Given the description of an element on the screen output the (x, y) to click on. 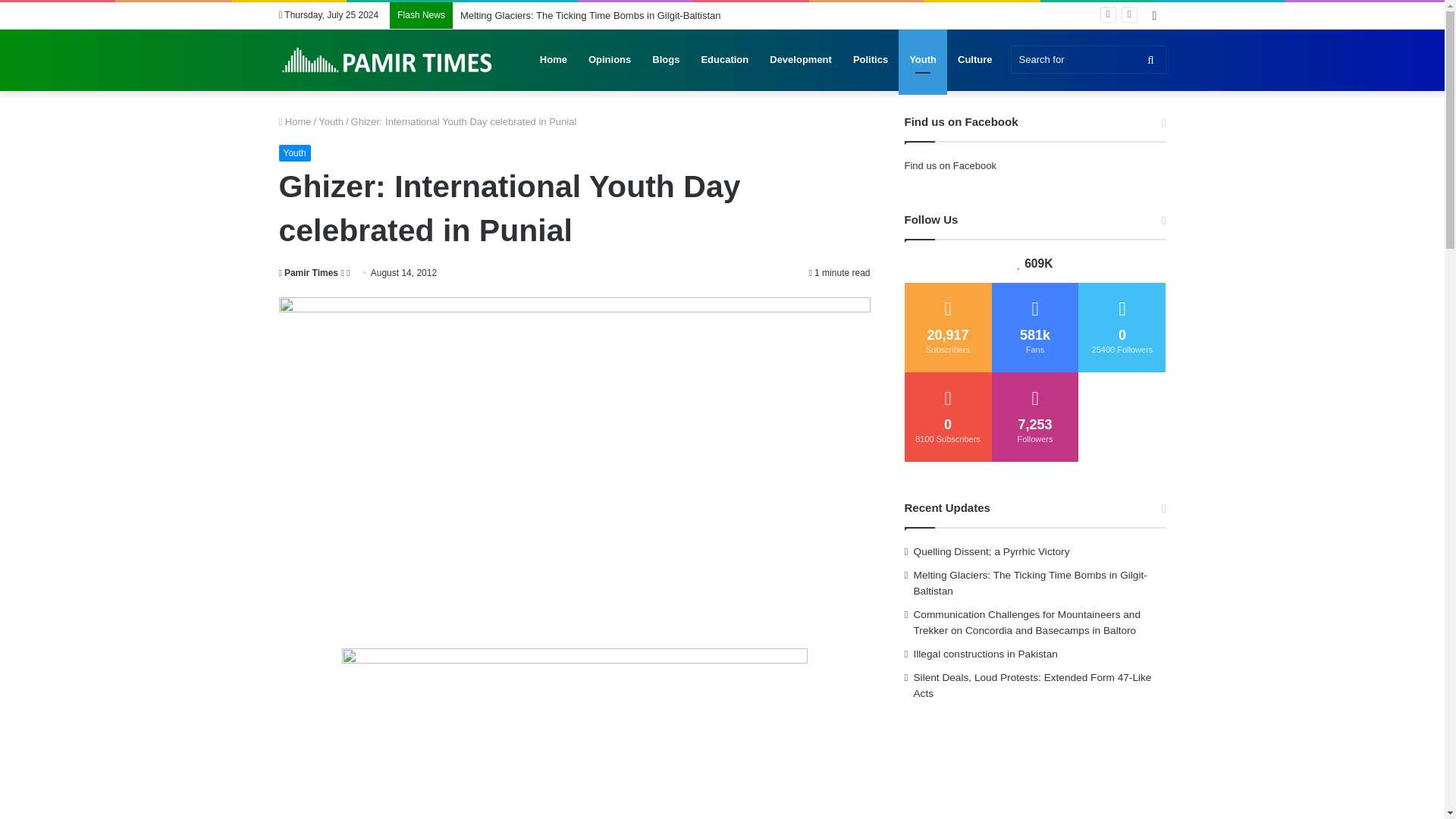
Pamir Times (309, 272)
Search for (1088, 59)
PAMIR TIMES (387, 60)
Development (800, 59)
Melting Glaciers: The Ticking Time Bombs in Gilgit-Baltistan (590, 15)
Youth (295, 152)
Opinions (610, 59)
Home (295, 121)
Education (724, 59)
Culture (975, 59)
Pamir Times (309, 272)
MPYA (573, 733)
Politics (870, 59)
Youth (330, 121)
